Given the description of an element on the screen output the (x, y) to click on. 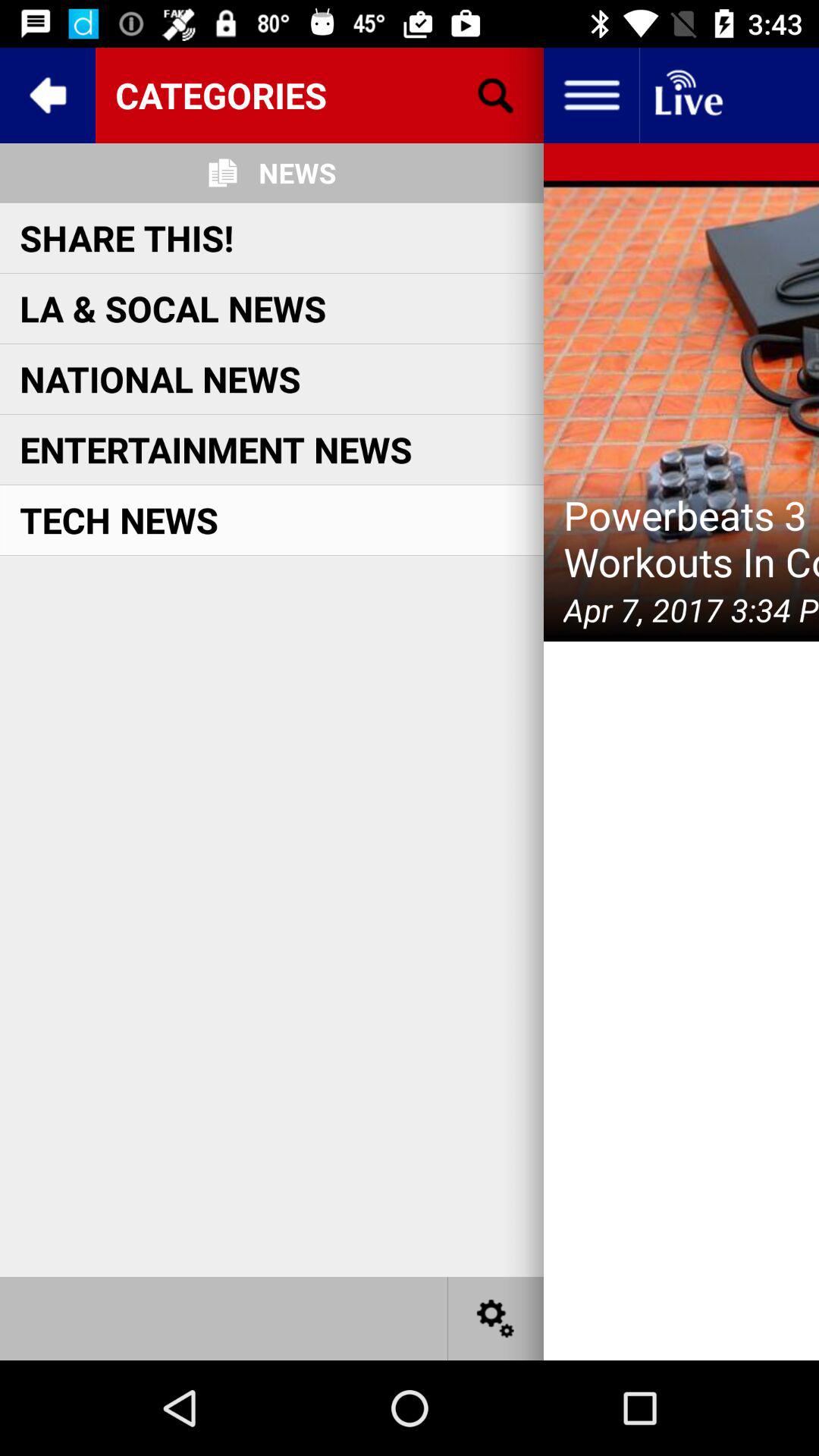
live option (687, 95)
